Given the description of an element on the screen output the (x, y) to click on. 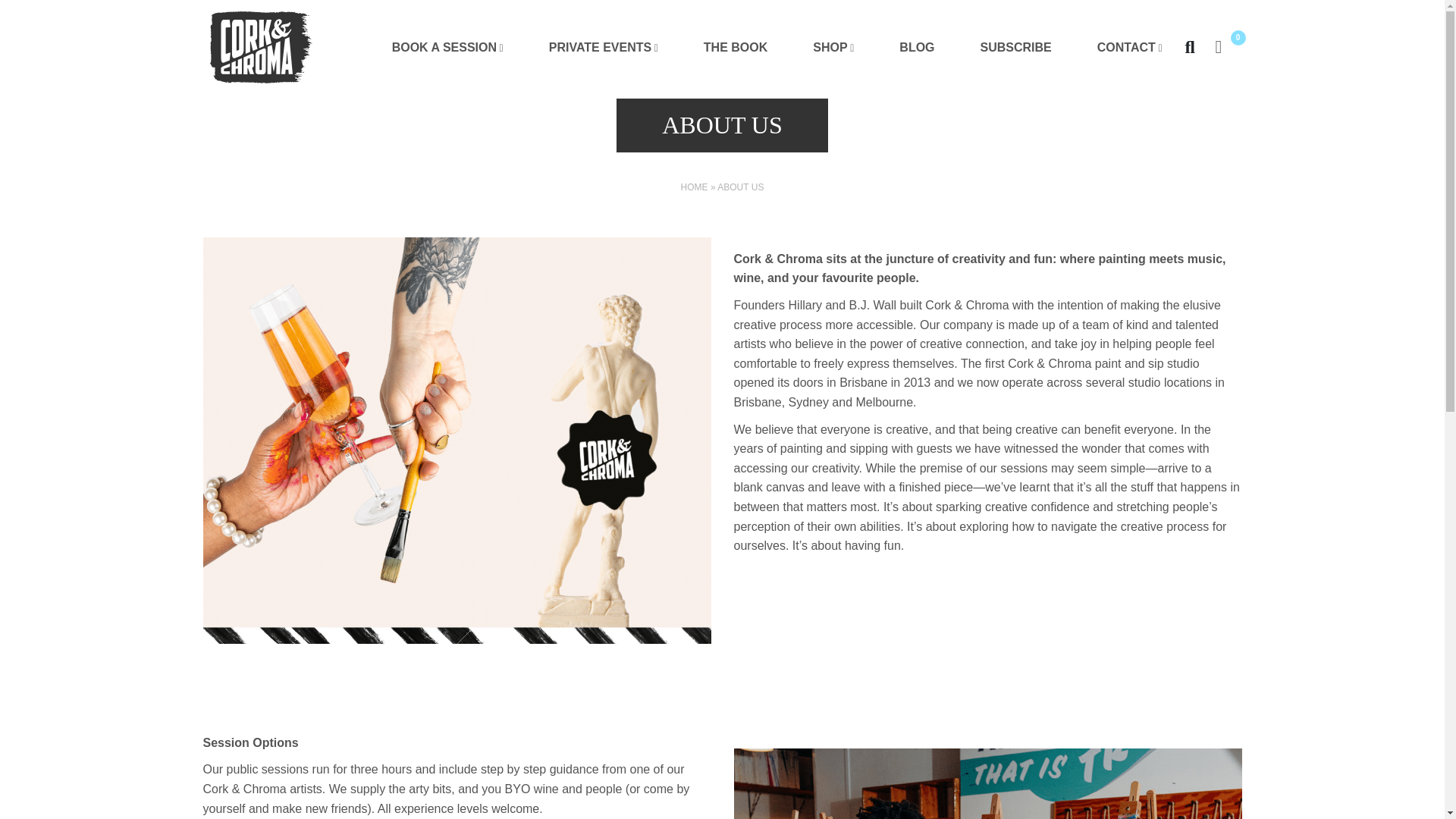
BOOK A SESSION (447, 47)
PRIVATE EVENTS (603, 47)
SUBSCRIBE (1016, 47)
BLOG (916, 47)
HOME (694, 186)
SHOP (833, 47)
CONTACT (1129, 47)
THE BOOK (735, 47)
